Given the description of an element on the screen output the (x, y) to click on. 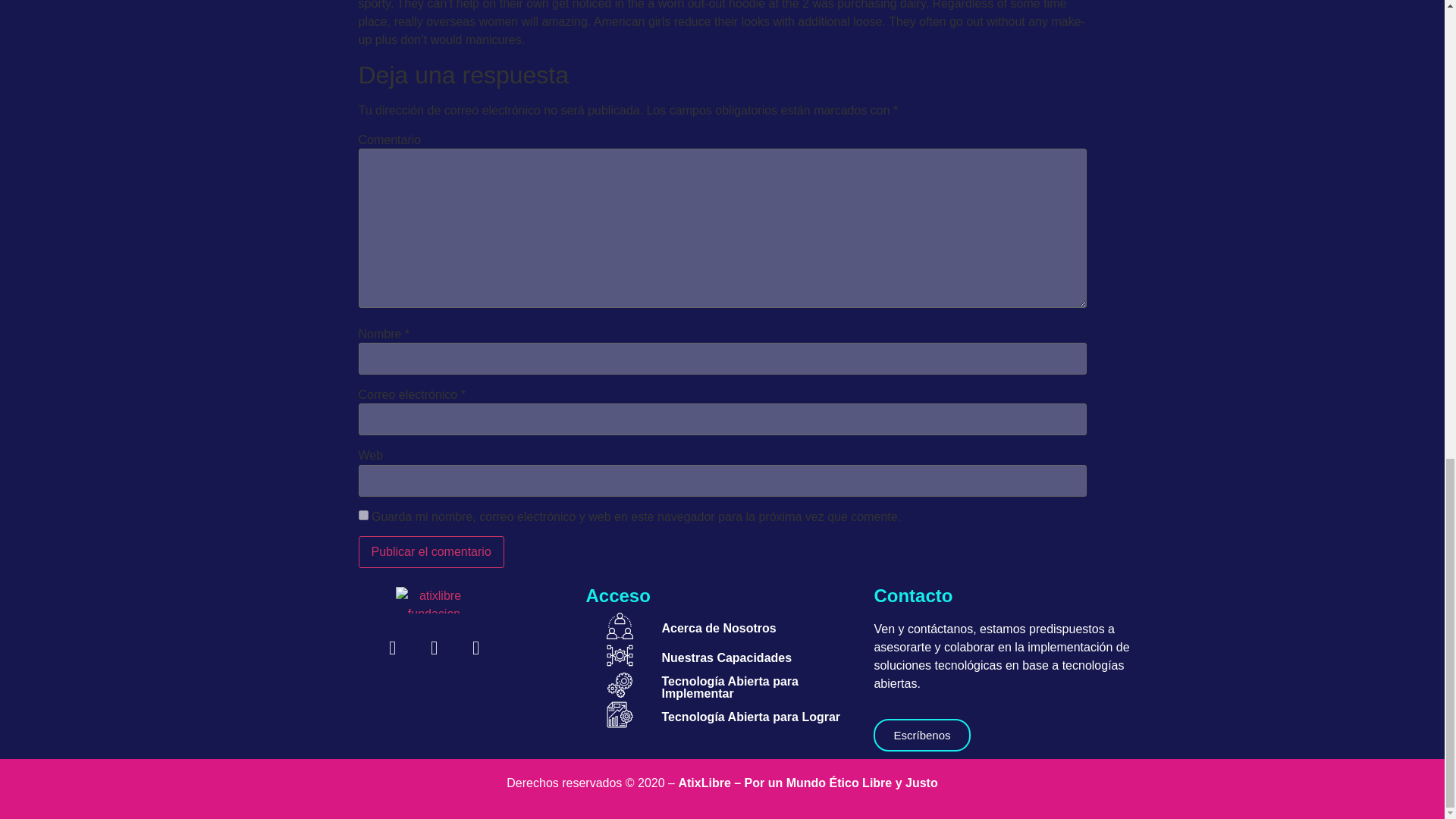
Publicar el comentario (430, 552)
Acerca de Nosotros (718, 627)
Nuestras Capacidades (726, 657)
yes (363, 515)
Publicar el comentario (430, 552)
